Given the description of an element on the screen output the (x, y) to click on. 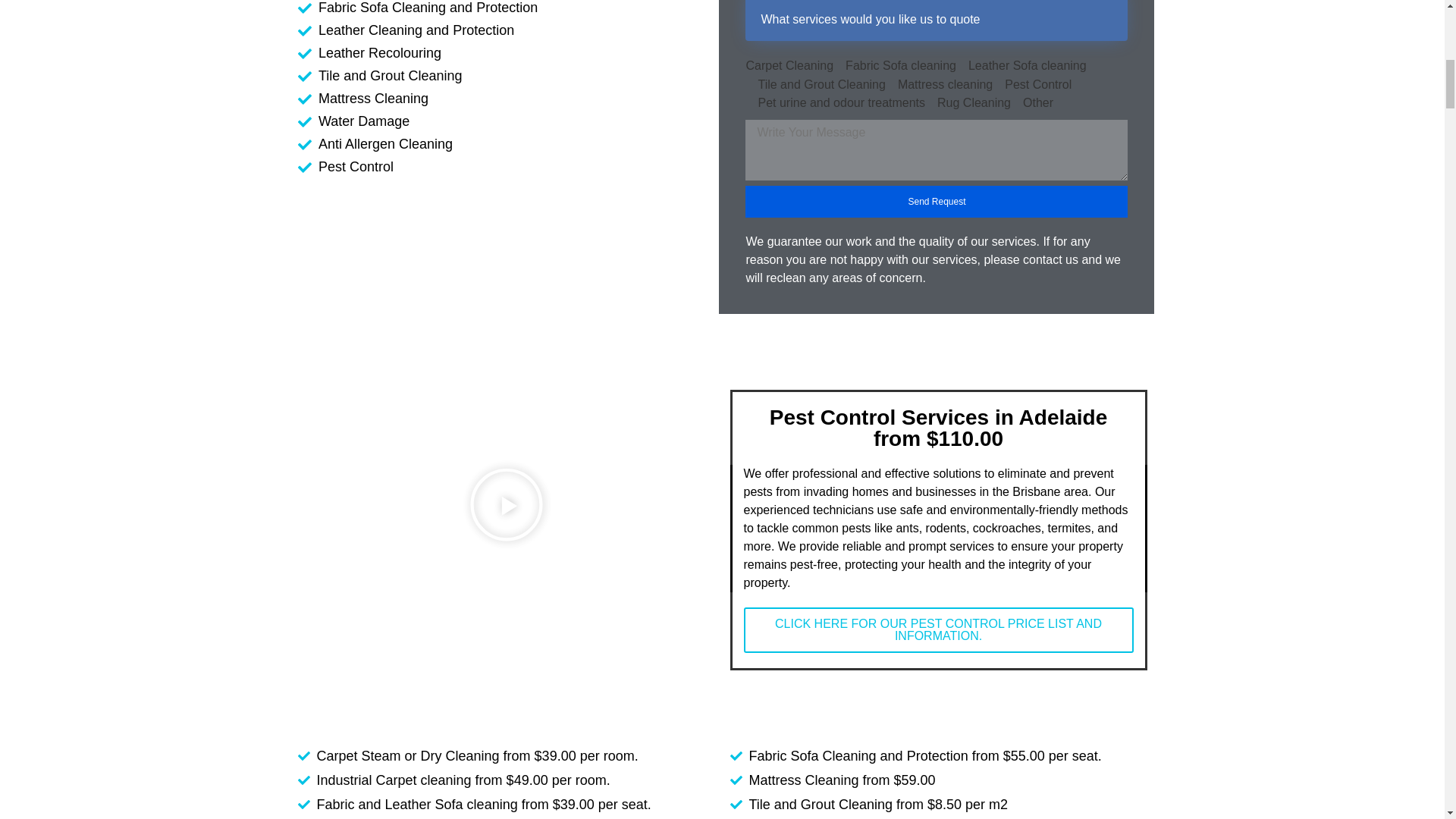
Send Request (935, 201)
